Given the description of an element on the screen output the (x, y) to click on. 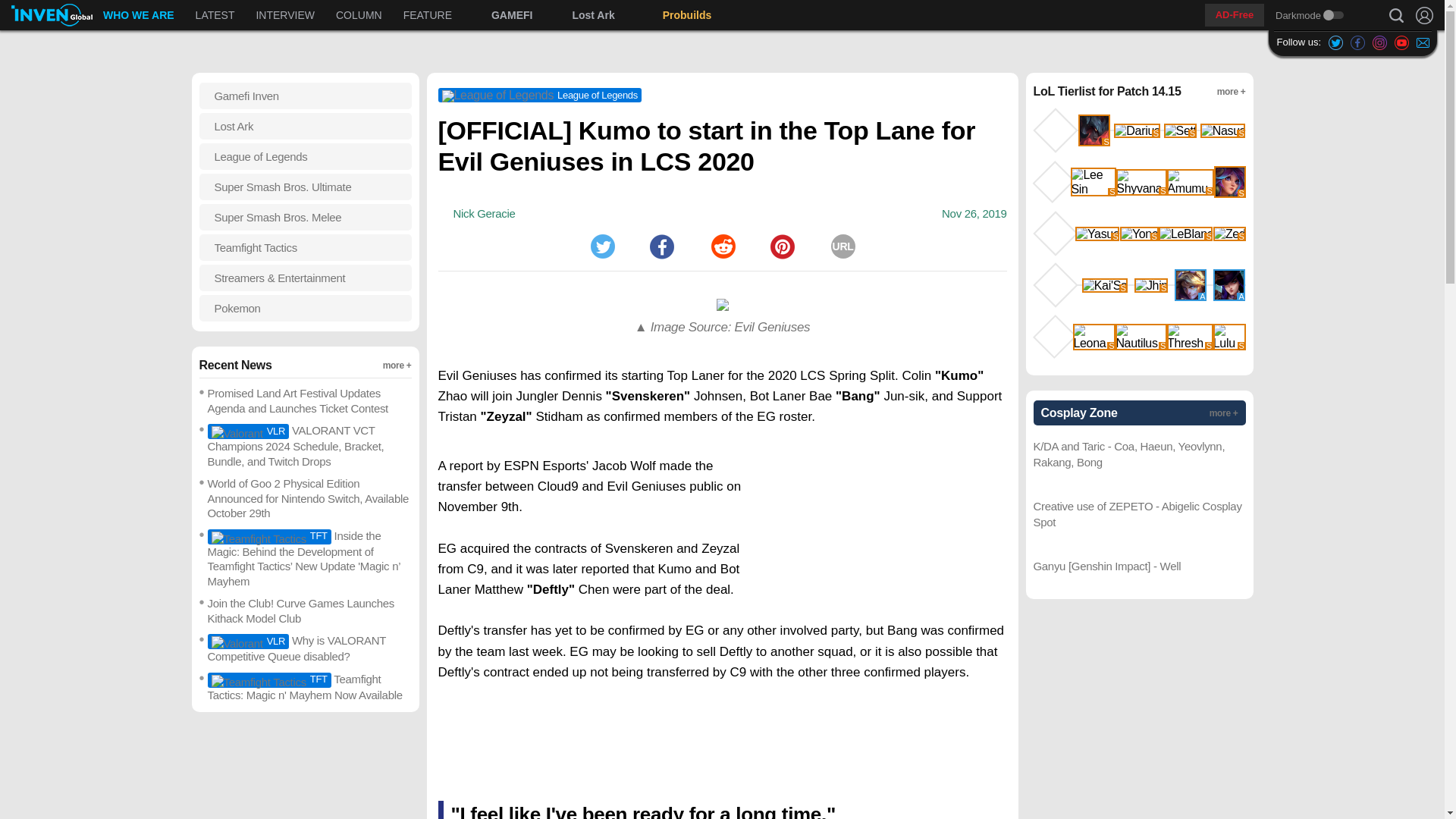
FEATURE (428, 15)
Inven Global Facebook (1358, 42)
Inven Global Twitter (1334, 42)
Inven Global Youtube (1401, 42)
Share (661, 246)
COLUMN (358, 15)
Inven Global Instagram (1380, 42)
Inven Global Newsletter (1422, 42)
Inven Global Facebook (407, 15)
URL Copy (1358, 42)
WHO WE ARE (843, 246)
Login (138, 15)
Twitter (1424, 15)
Inven Global Instagram (601, 246)
